Given the description of an element on the screen output the (x, y) to click on. 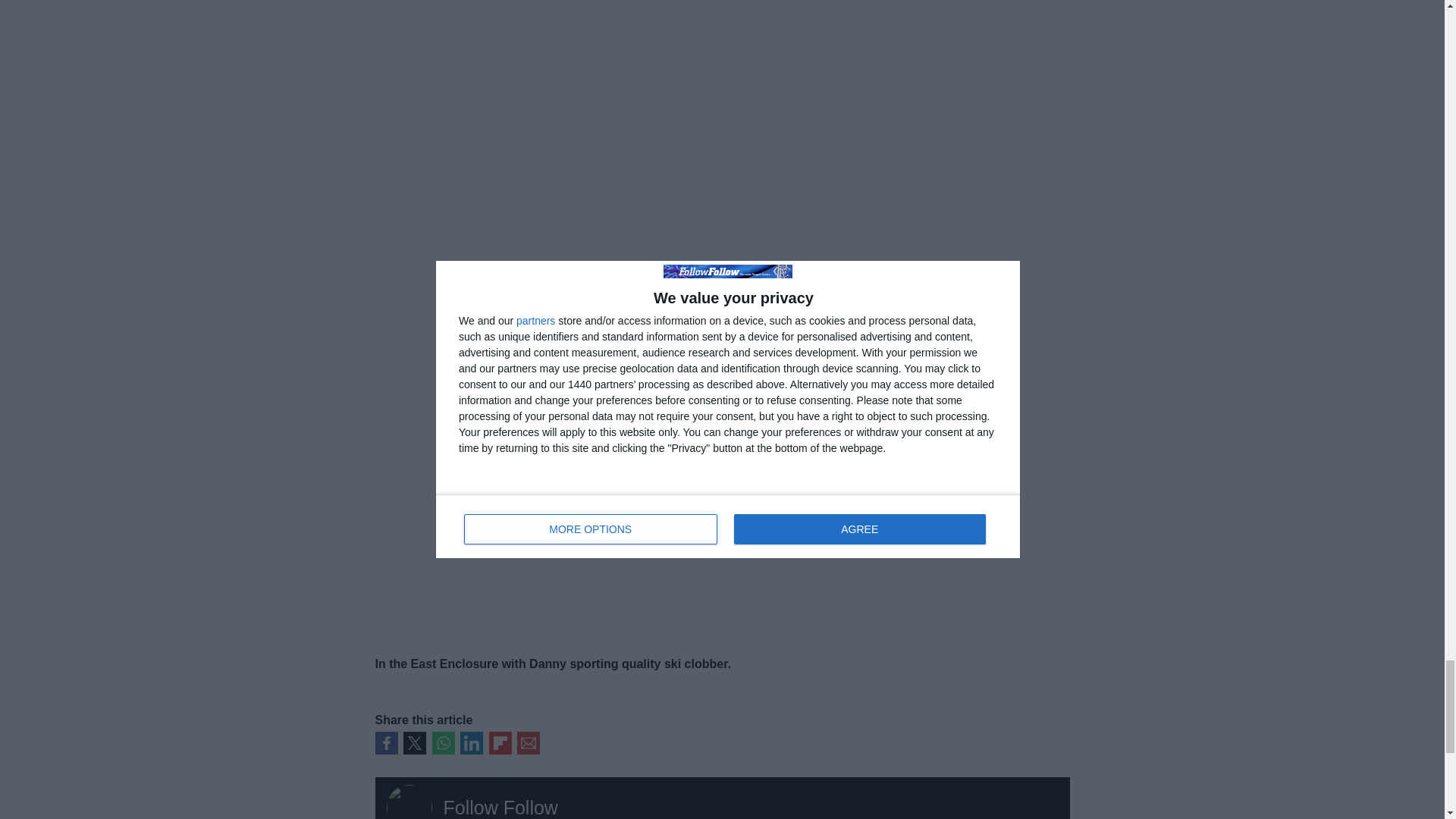
share on Twitter (414, 743)
share on LinkedIn (471, 743)
Follow Follow (499, 807)
share on Flipboard (499, 743)
share on WhatsApp (443, 743)
share on Email (528, 743)
share on Facebook (385, 743)
